Given the description of an element on the screen output the (x, y) to click on. 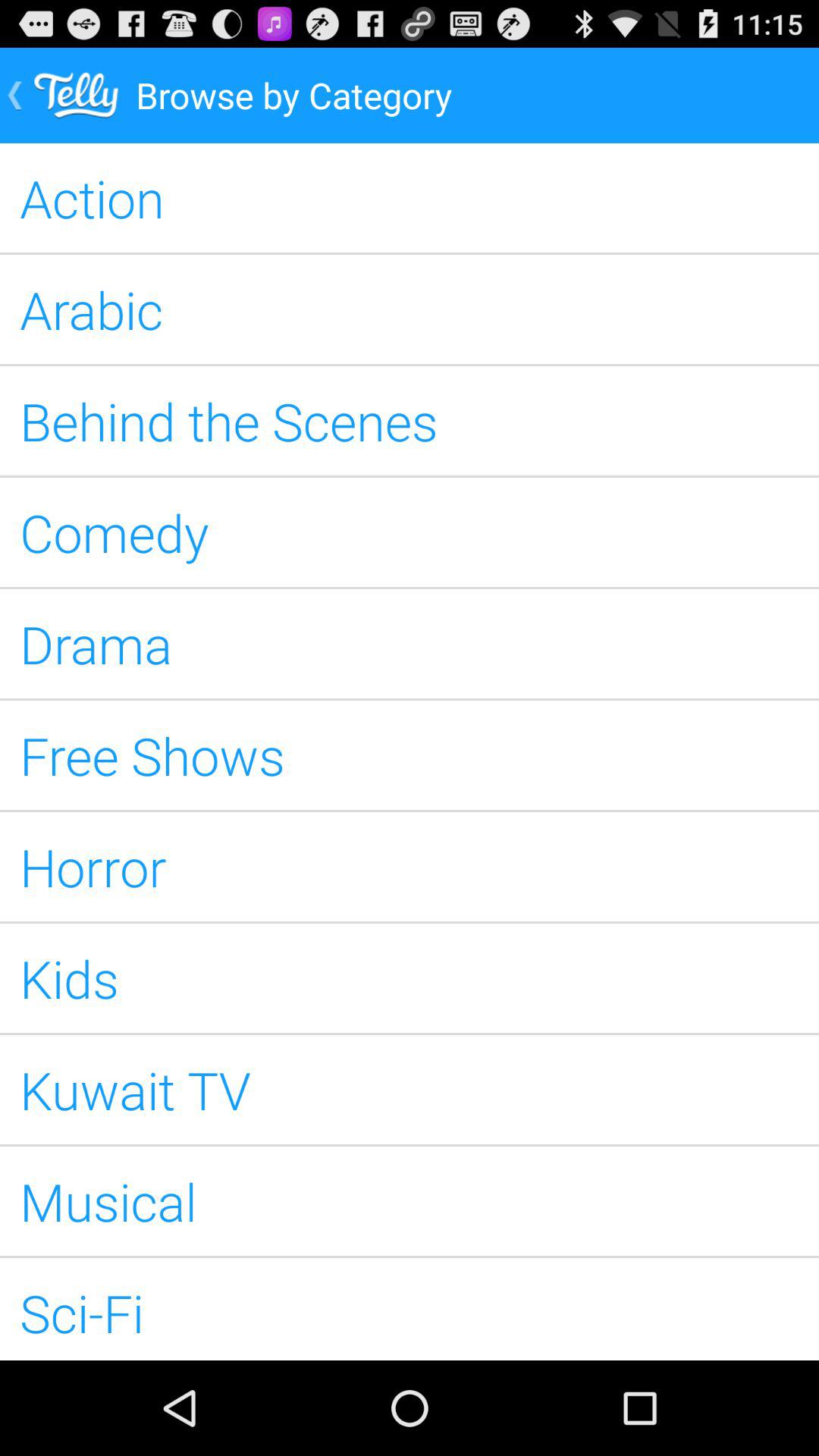
select the item below kids (409, 1089)
